Given the description of an element on the screen output the (x, y) to click on. 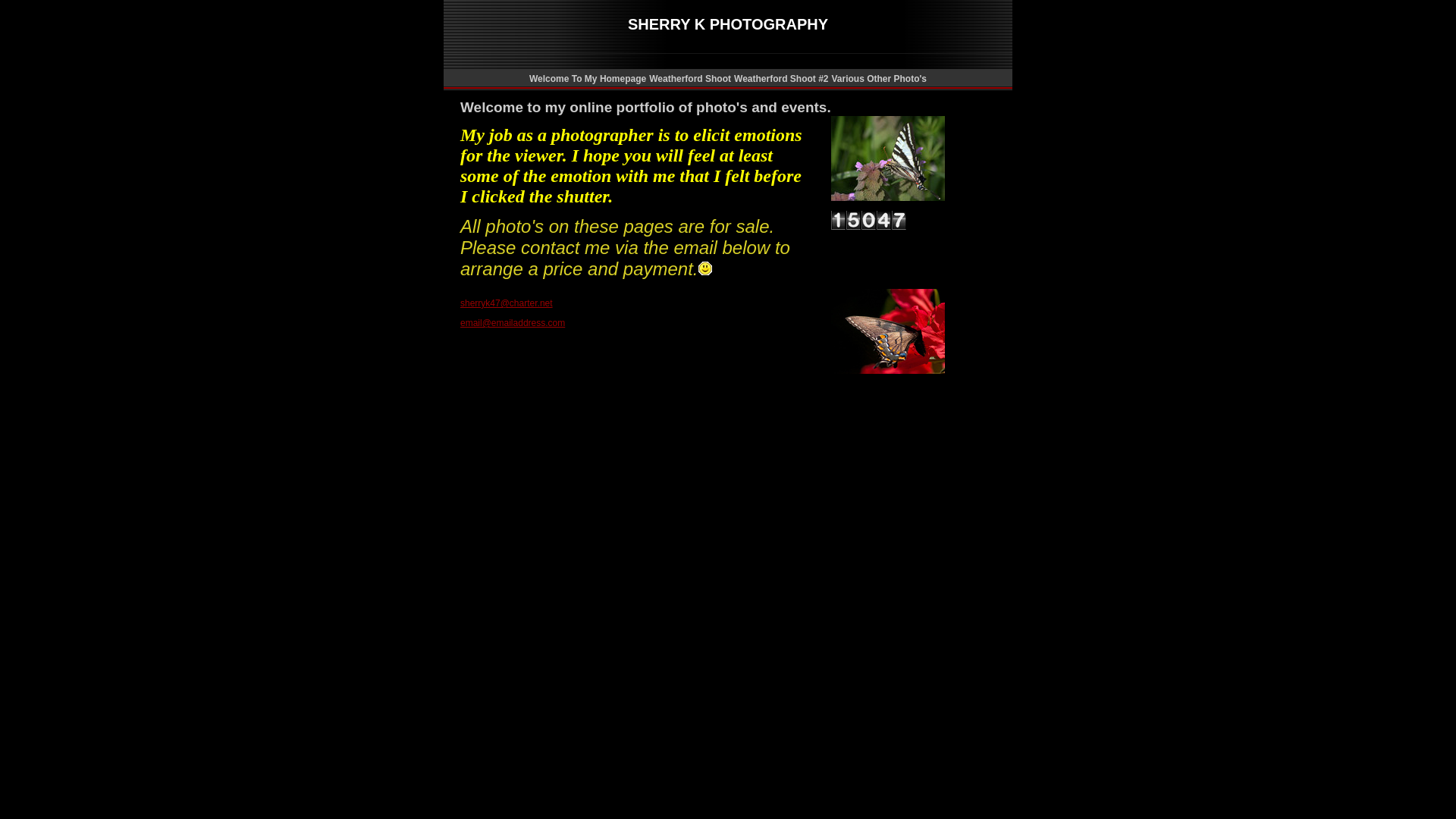
Welcome To My Homepage Element type: text (587, 78)
Weatherford Shoot #2 Element type: text (781, 78)
Weatherford Shoot Element type: text (690, 78)
email@emailaddress.com Element type: text (512, 322)
sherryk47@charter.net Element type: text (506, 303)
Various Other Photo's Element type: text (878, 78)
Smile Element type: hover (705, 268)
